Given the description of an element on the screen output the (x, y) to click on. 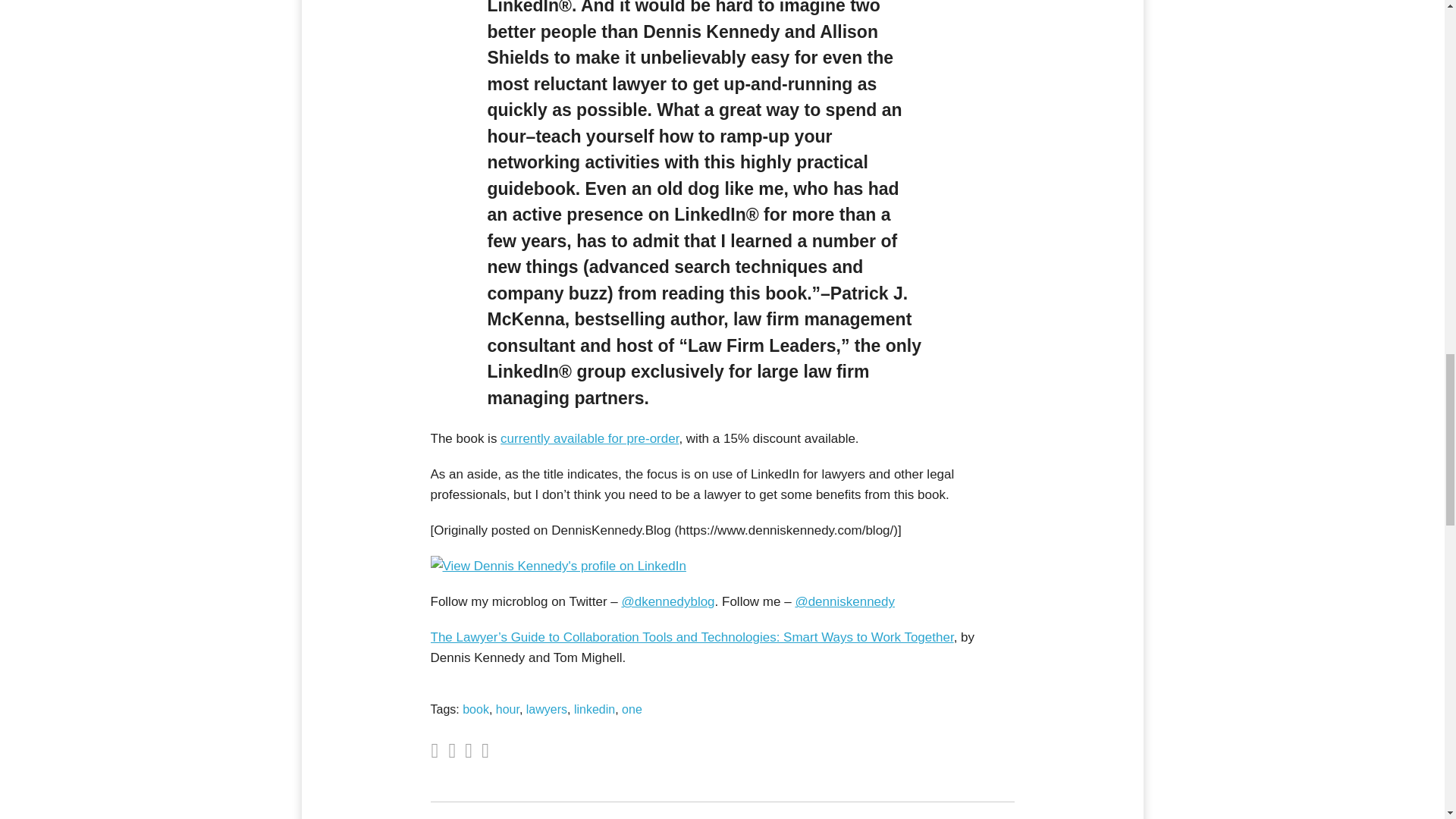
currently available for pre-order (589, 438)
linkedin (593, 708)
one (631, 708)
hour (507, 708)
book (476, 708)
lawyers (546, 708)
